Given the description of an element on the screen output the (x, y) to click on. 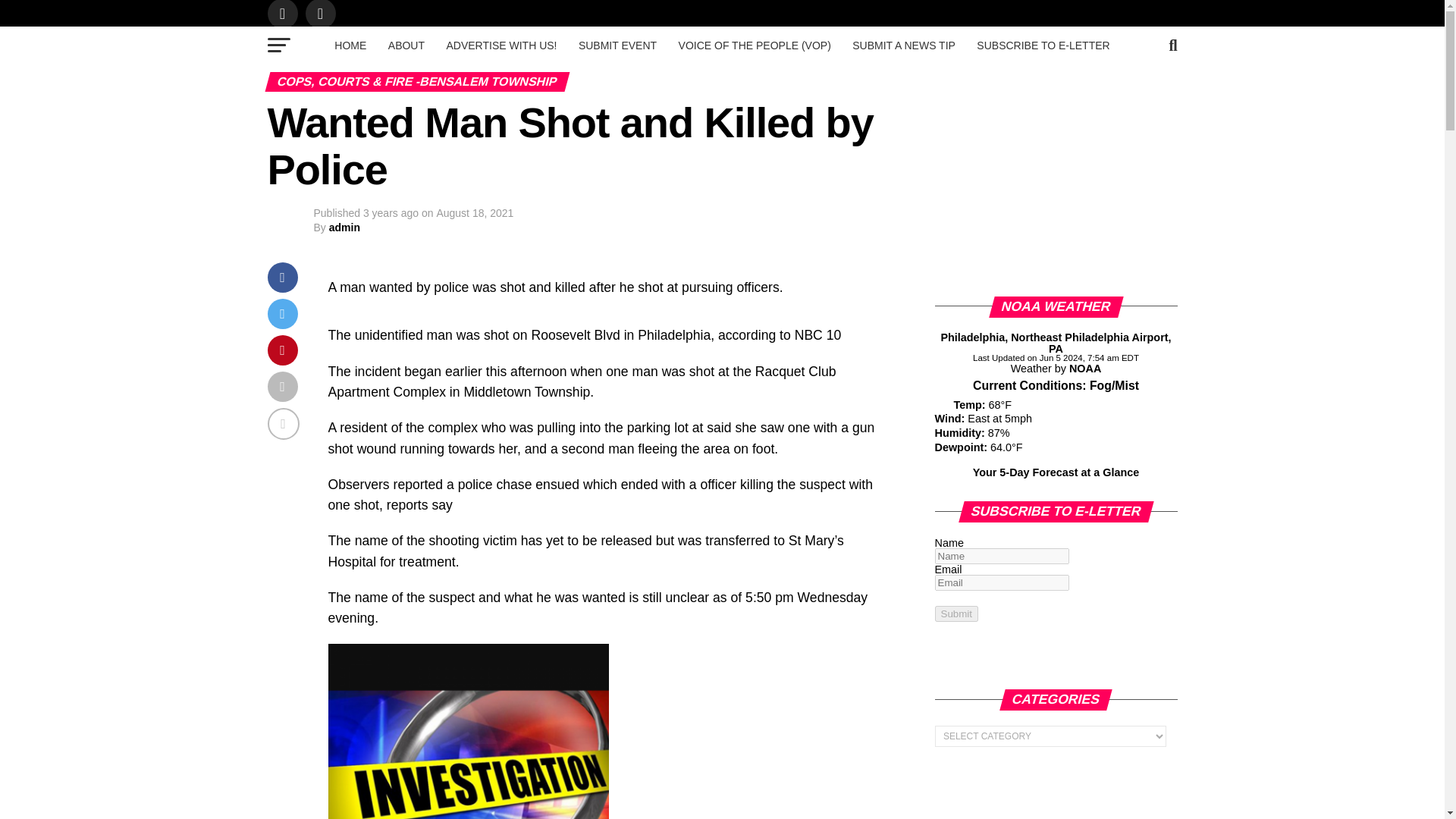
SUBSCRIBE TO E-LETTER (1043, 45)
Click for your 5-day forecast. (940, 403)
SUBMIT EVENT (617, 45)
ADVERTISE WITH US! (501, 45)
Submit (955, 613)
HOME (349, 45)
Posts by admin (344, 227)
ABOUT (405, 45)
Click for your 5-day forecast. (1056, 472)
admin (344, 227)
SUBMIT A NEWS TIP (903, 45)
NOAA's National Weather Service (1084, 368)
